Given the description of an element on the screen output the (x, y) to click on. 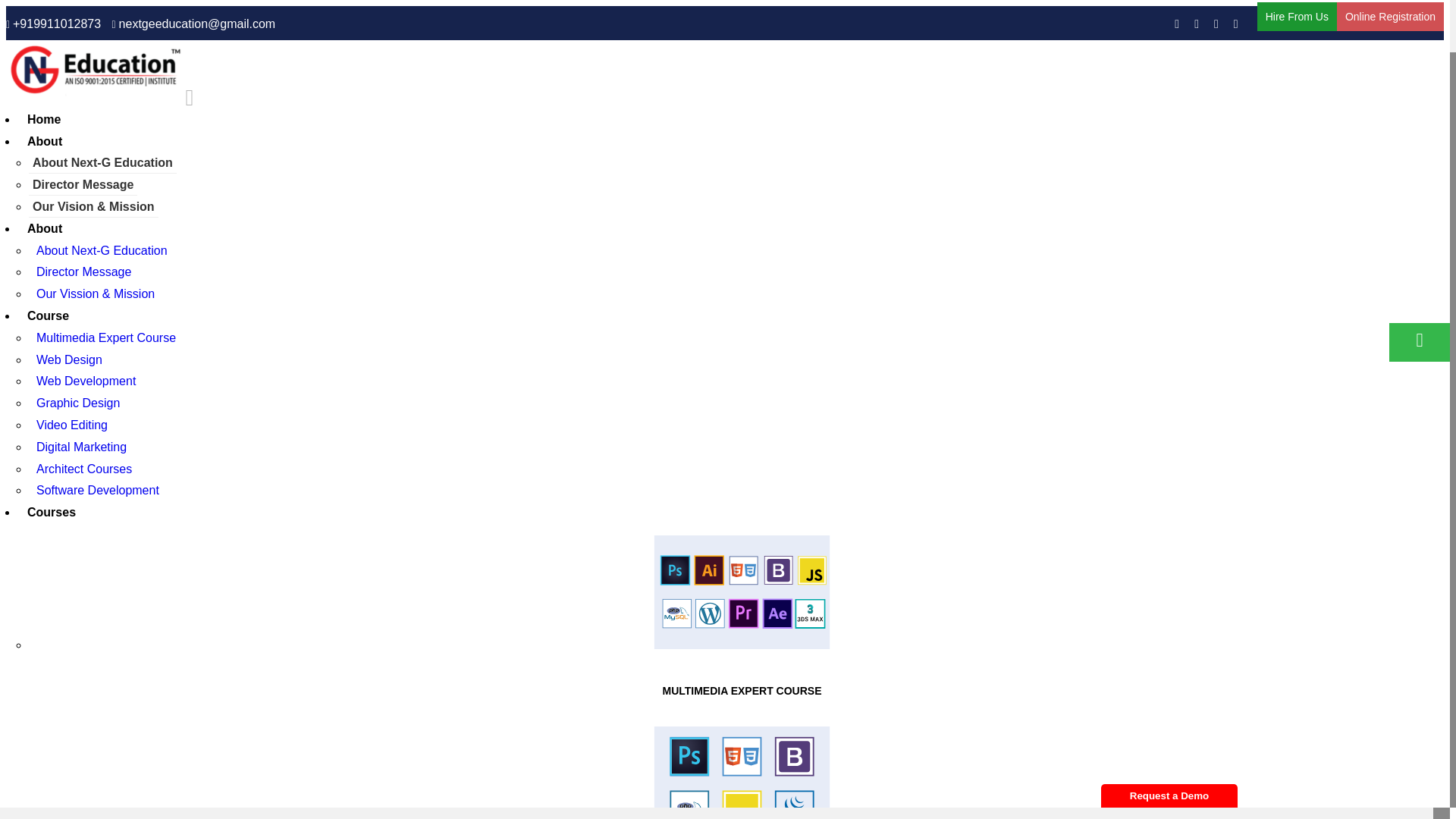
About (44, 141)
Home (43, 119)
Architect Courses (84, 469)
Online Registration (1390, 16)
Web Design (69, 359)
Digital Marketing (81, 447)
Software Development (98, 489)
About (44, 228)
Director Message (82, 184)
Web Development (85, 380)
Multimedia Expert Course (106, 337)
Course (47, 315)
Graphic Design (78, 402)
MULTIMEDIA EXPERT COURSE (741, 690)
Video Editing (72, 424)
